Given the description of an element on the screen output the (x, y) to click on. 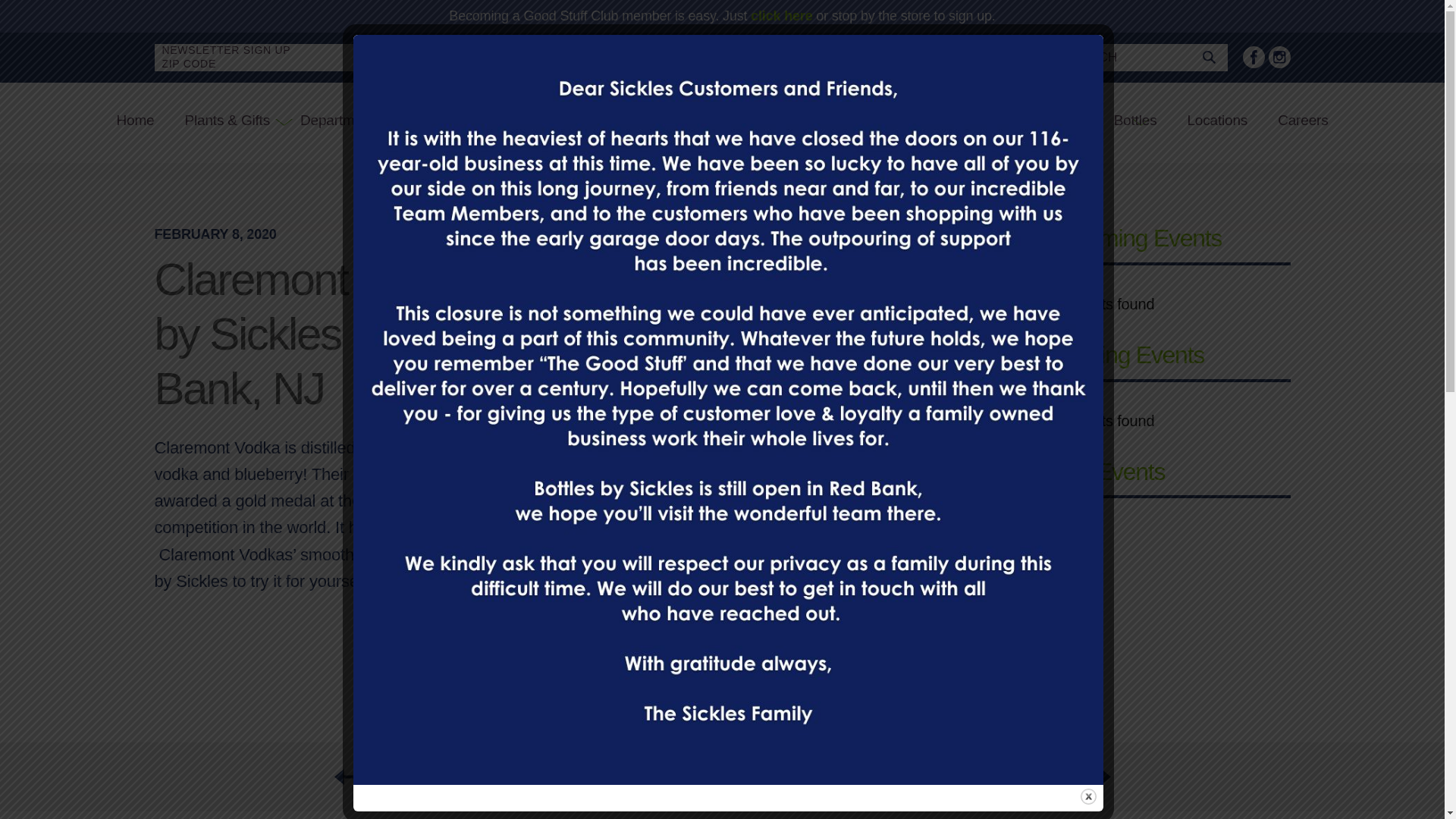
instagram (1279, 56)
click here (781, 15)
Sickles - Since 1908 (615, 119)
Store Sales (915, 120)
Departments (340, 120)
Close (1088, 796)
Good Stuff Club (1032, 120)
facebook (1252, 56)
